Given the description of an element on the screen output the (x, y) to click on. 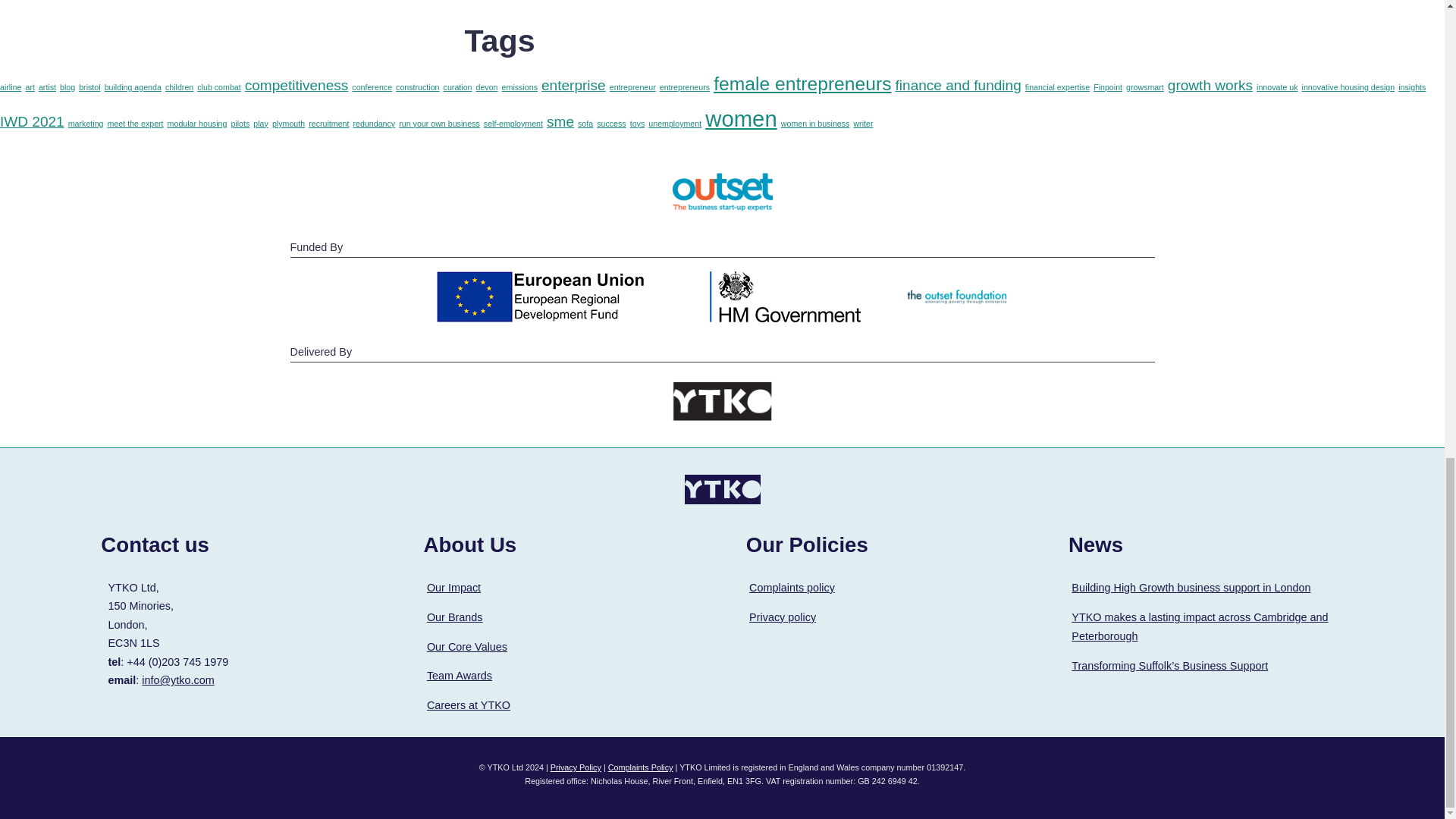
Email YTKO (177, 680)
